Given the description of an element on the screen output the (x, y) to click on. 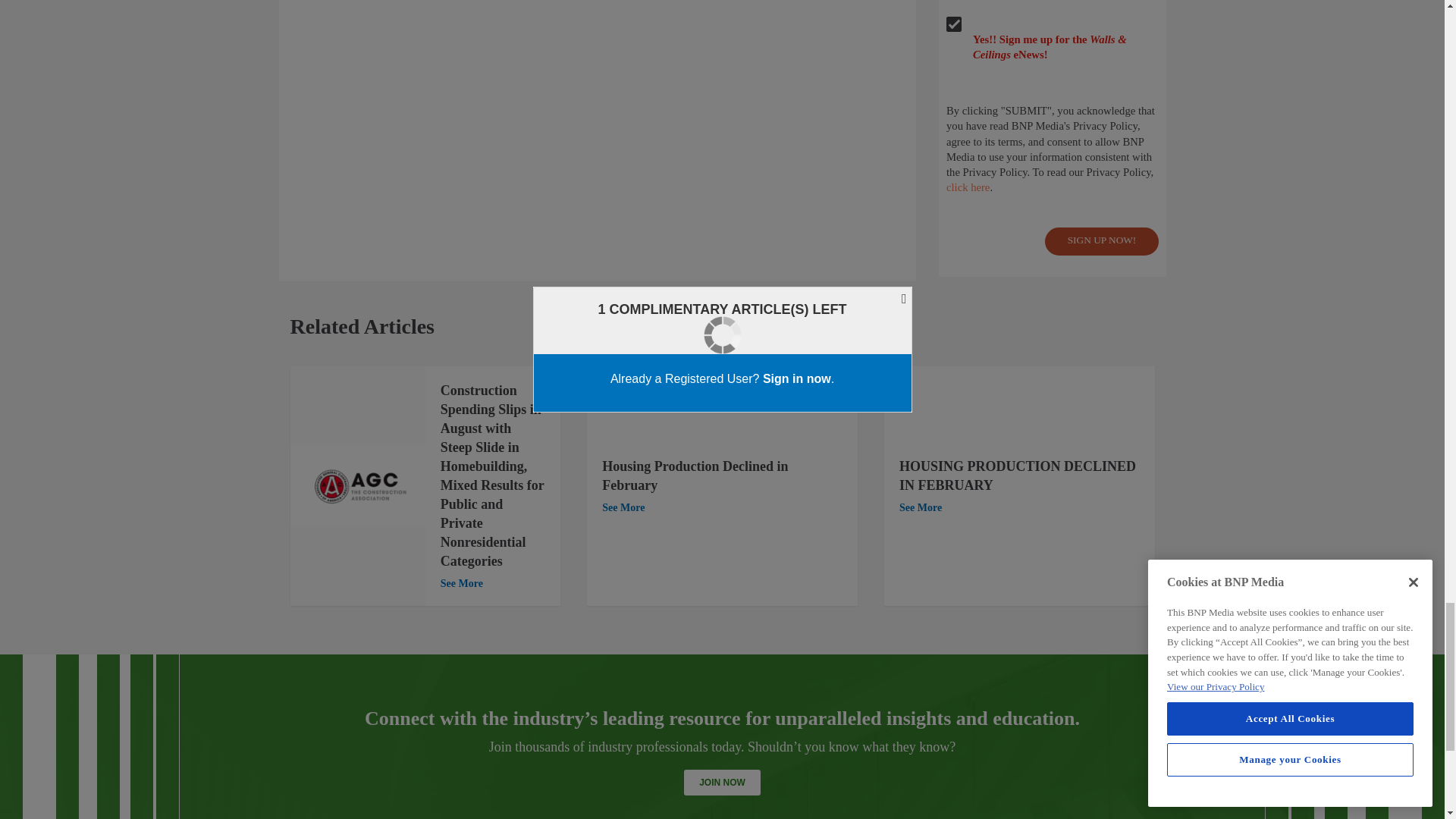
AGC logo (357, 486)
